Given the description of an element on the screen output the (x, y) to click on. 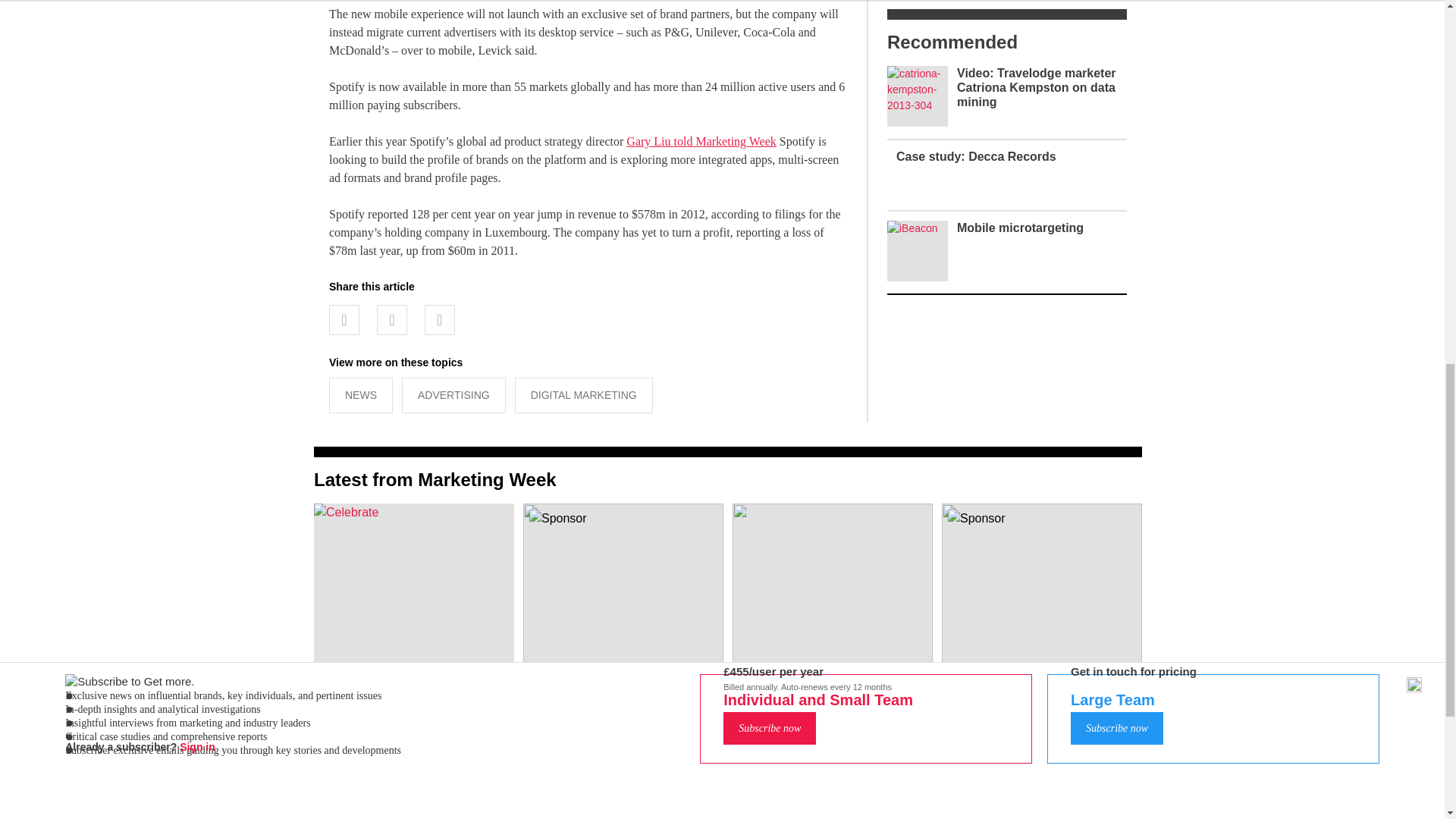
Latest from Marketing Week (435, 479)
ADVERTISING (453, 395)
DIGITAL MARKETING (583, 395)
Gary Liu told Marketing Week (701, 141)
NEWS (361, 395)
